Given the description of an element on the screen output the (x, y) to click on. 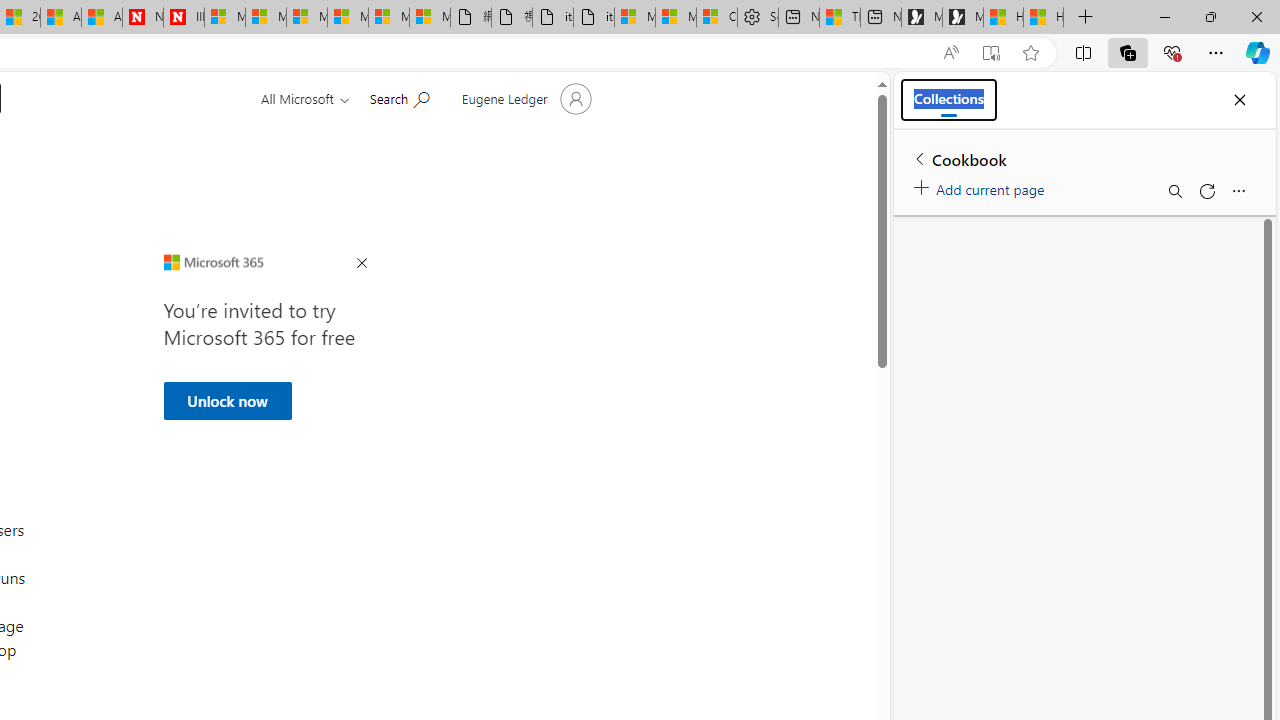
Add current page (982, 186)
Search for help (399, 97)
Account manager for Eugene Ledger (524, 98)
More options menu (1238, 190)
